Given the description of an element on the screen output the (x, y) to click on. 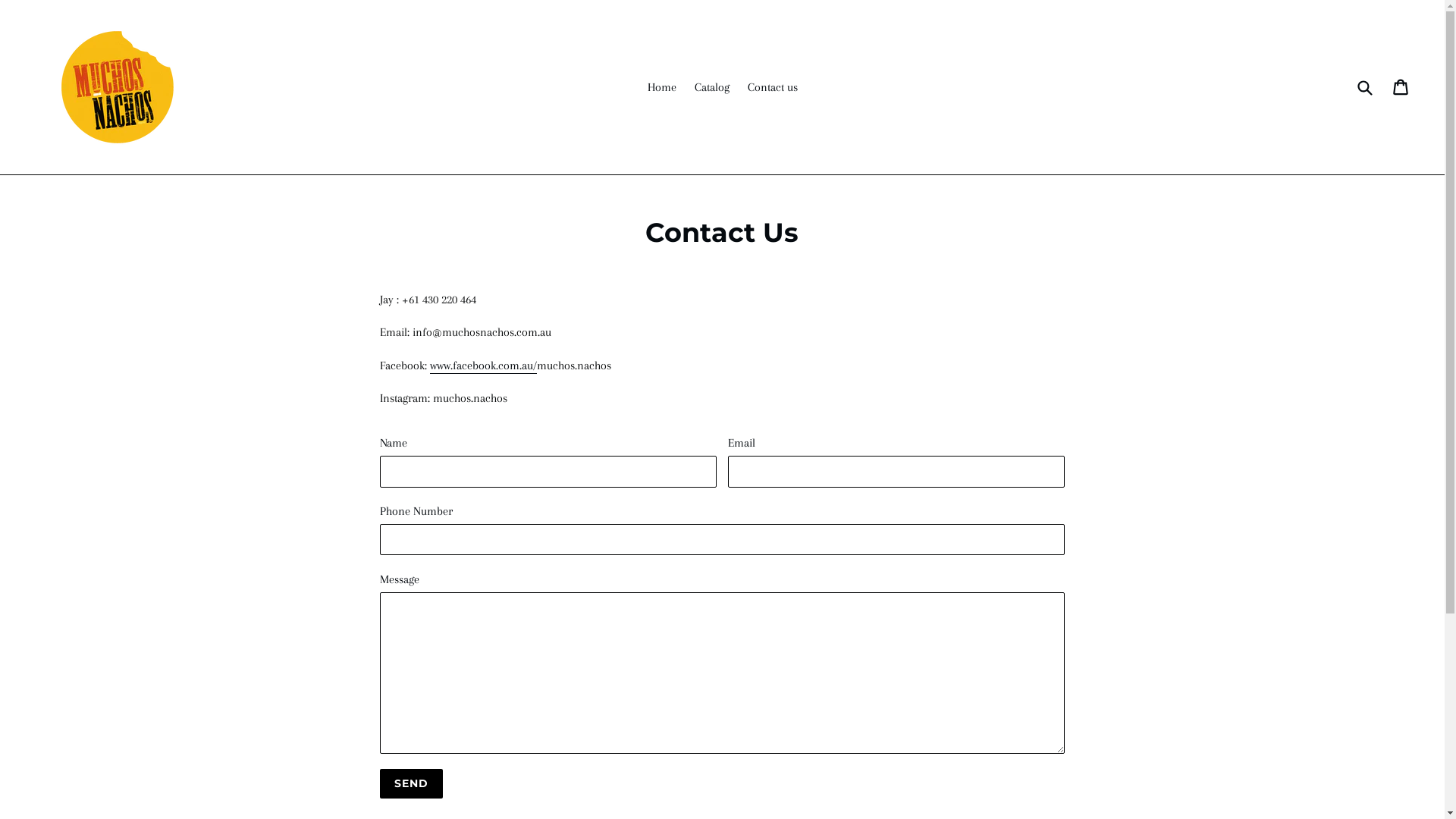
www.facebook.com.au/ Element type: text (482, 365)
Contact us Element type: text (772, 86)
Submit Element type: text (1363, 86)
Home Element type: text (662, 86)
Send Element type: text (410, 783)
Catalog Element type: text (712, 86)
Cart
Cart Element type: text (1401, 86)
